Given the description of an element on the screen output the (x, y) to click on. 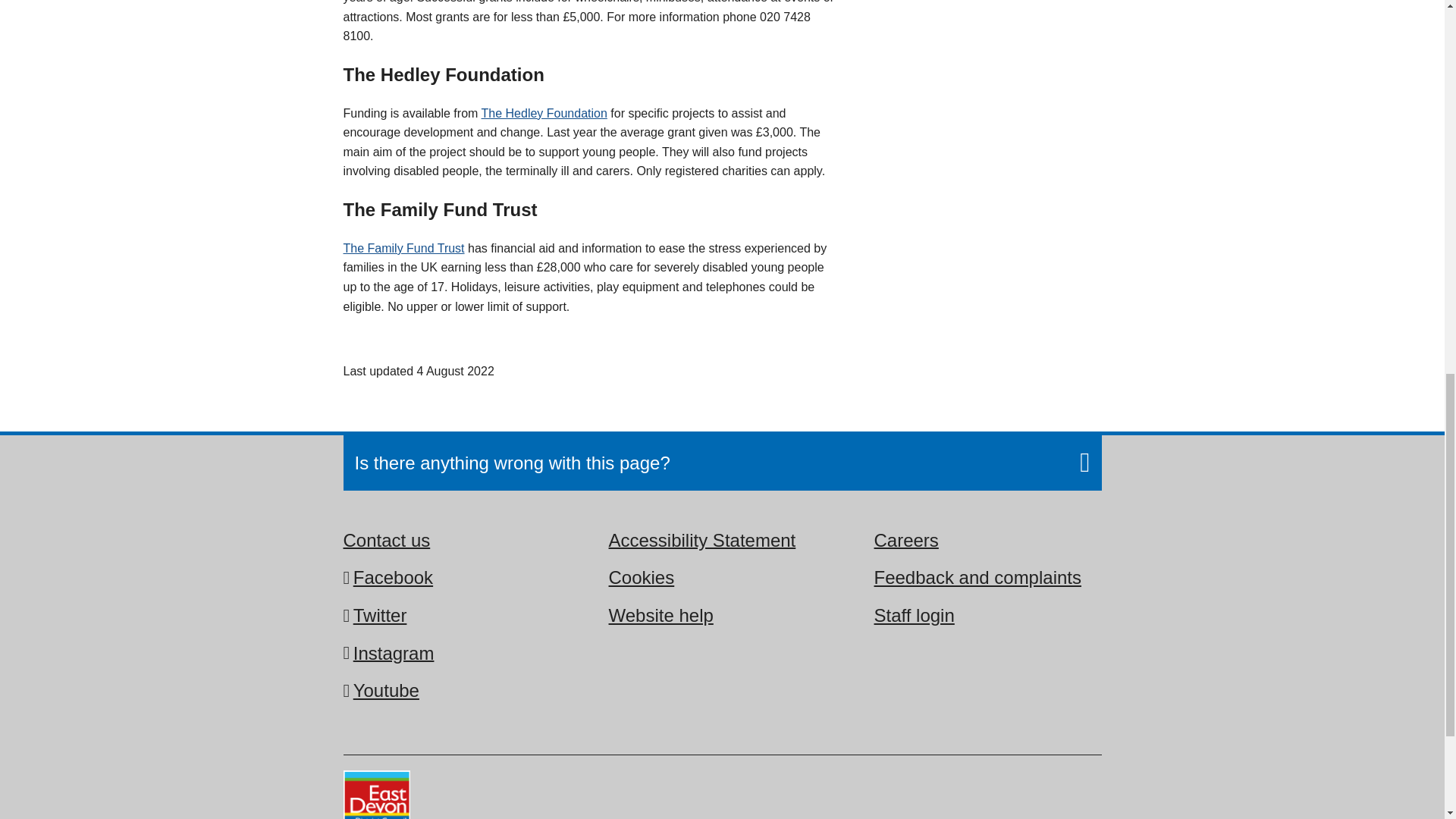
Is there anything wrong with this page? (722, 462)
Go to the East Devon District Council homepage (375, 794)
Accessibility Statement (701, 539)
Staff login (913, 614)
The Hedley Foundation (544, 113)
Instagram (393, 652)
Twitter (380, 614)
Feedback and complaints (977, 576)
Facebook (392, 576)
Website help (660, 614)
Youtube (386, 689)
Family Fund Trust website (403, 247)
Hedley Foundation website (544, 113)
Contact us (385, 539)
The Family Fund Trust (403, 247)
